Given the description of an element on the screen output the (x, y) to click on. 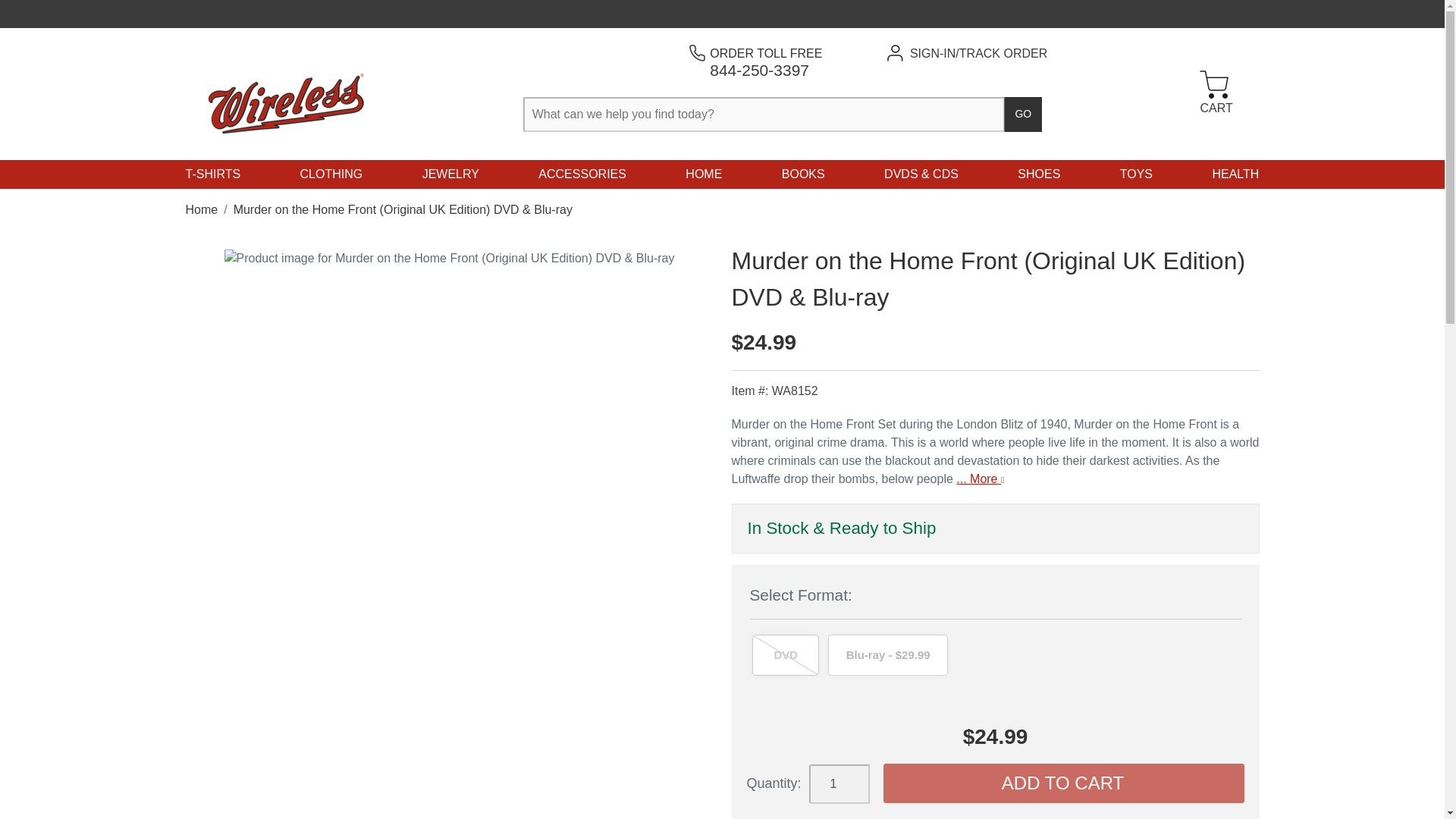
HOME (703, 174)
CART (1214, 93)
JEWELRY (450, 174)
T-SHIRTS (212, 174)
1 (839, 783)
CLOTHING (766, 60)
ACCESSORIES (330, 174)
GO (582, 174)
